Given the description of an element on the screen output the (x, y) to click on. 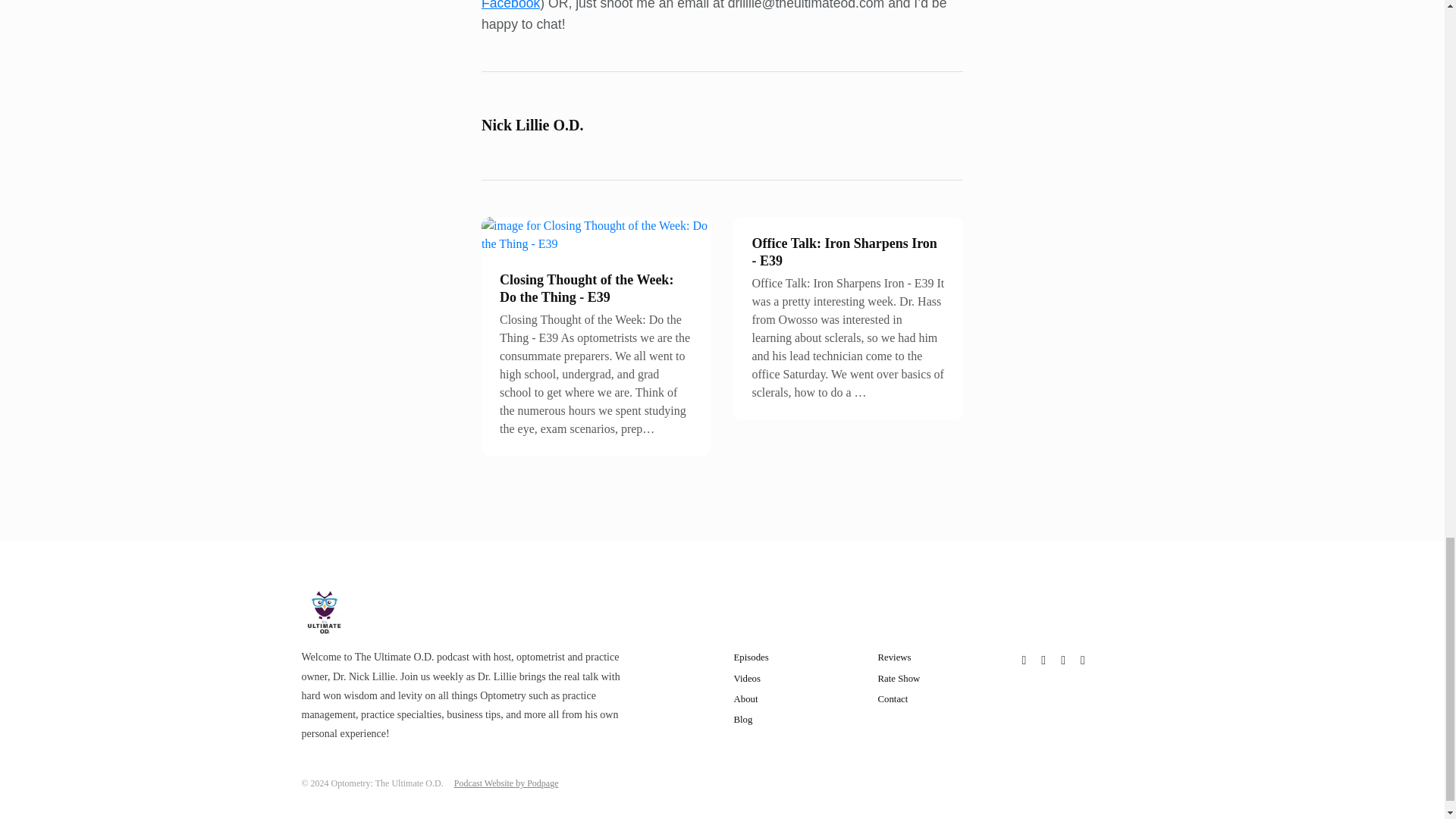
Facebook (510, 5)
Closing Thought of the Week: Do the Thing - E39 (585, 287)
Nick Lillie O.D. (532, 125)
Optometry: The Ultimate O.D. Logo (324, 612)
